Given the description of an element on the screen output the (x, y) to click on. 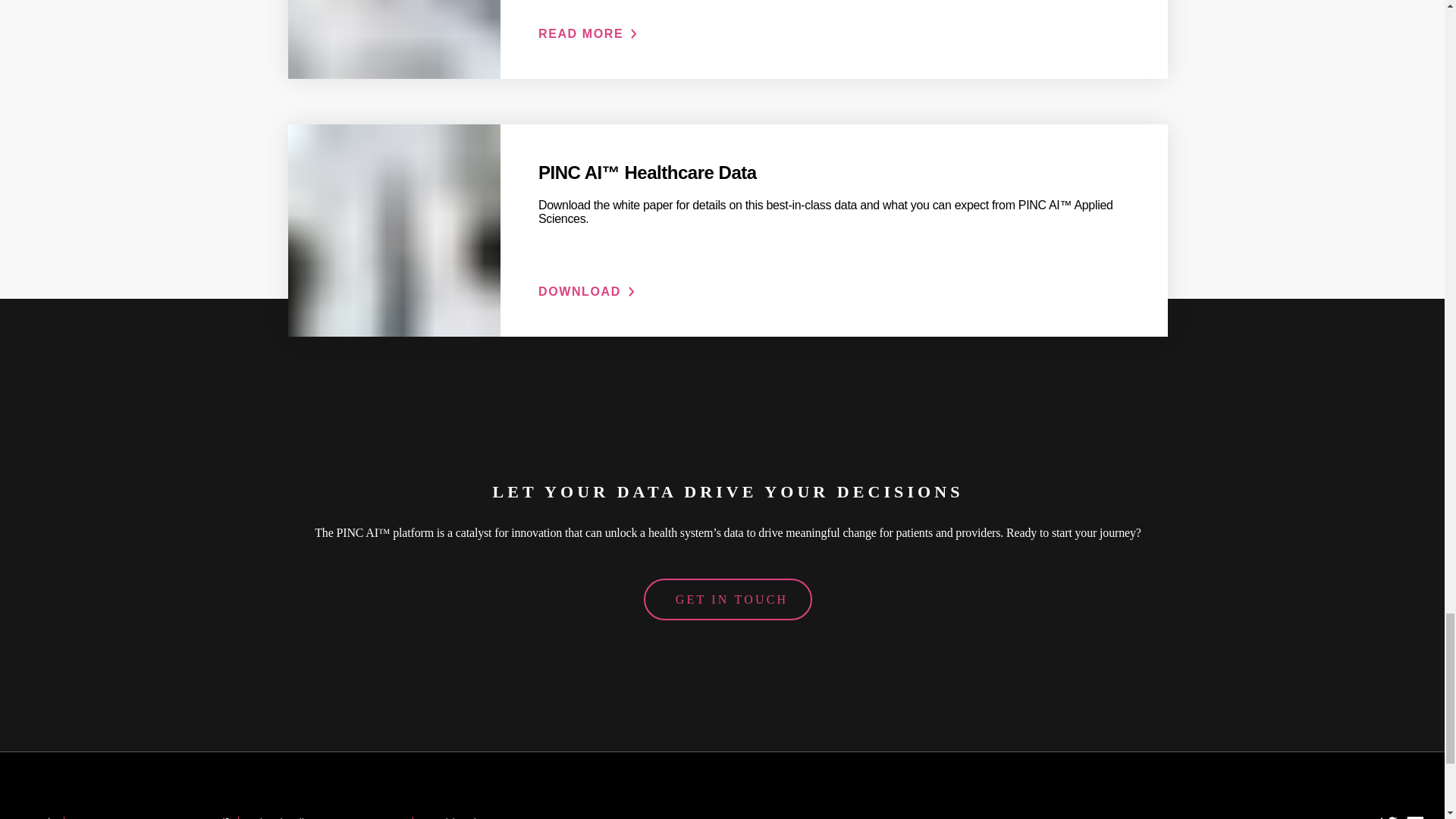
Investors (96, 817)
DOWNLOAD (586, 291)
Breakthroughs 24 (460, 817)
Clinical Intelligence (291, 817)
GET IN TOUCH (727, 598)
READ MORE (587, 33)
